Given the description of an element on the screen output the (x, y) to click on. 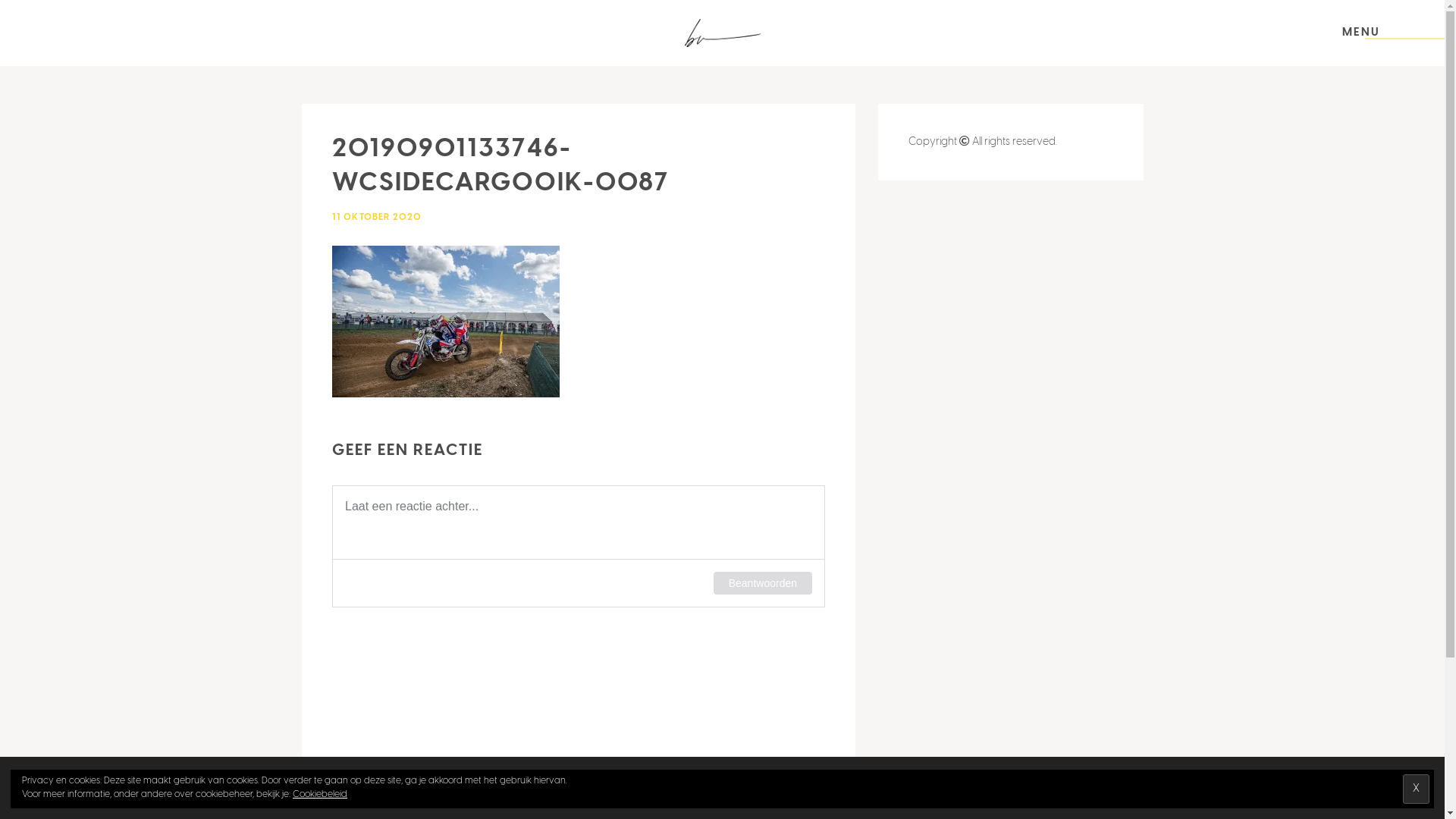
X Element type: text (1415, 788)
Reactieformulier Element type: hover (578, 648)
MENU Element type: text (1361, 31)
Cookiebeleid Element type: text (319, 794)
